Given the description of an element on the screen output the (x, y) to click on. 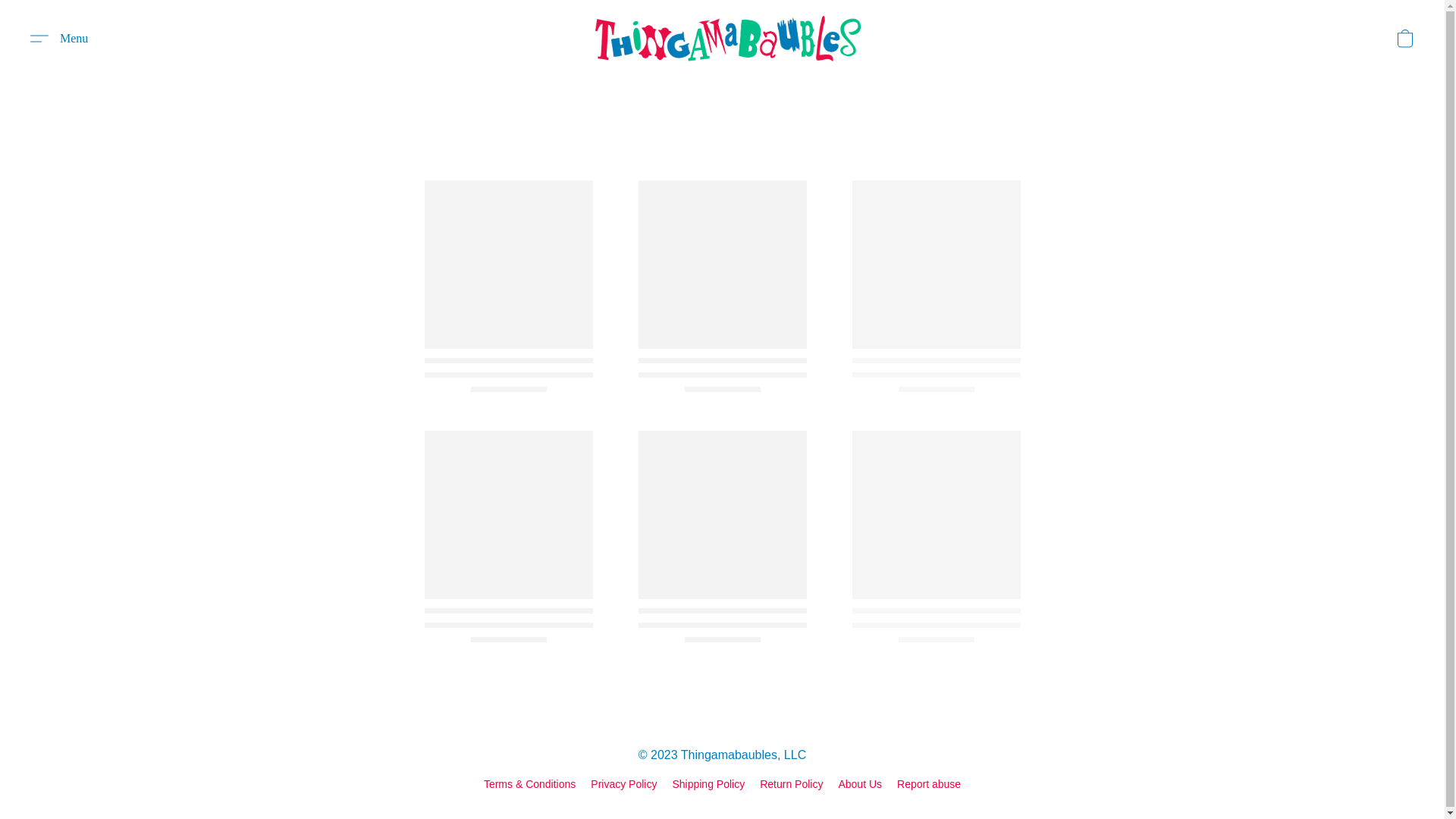
Report abuse (928, 783)
Shipping Policy (707, 783)
Privacy Policy (623, 783)
Go to your shopping cart (1404, 38)
About Us (860, 783)
Return Policy (791, 783)
Menu (58, 38)
